Given the description of an element on the screen output the (x, y) to click on. 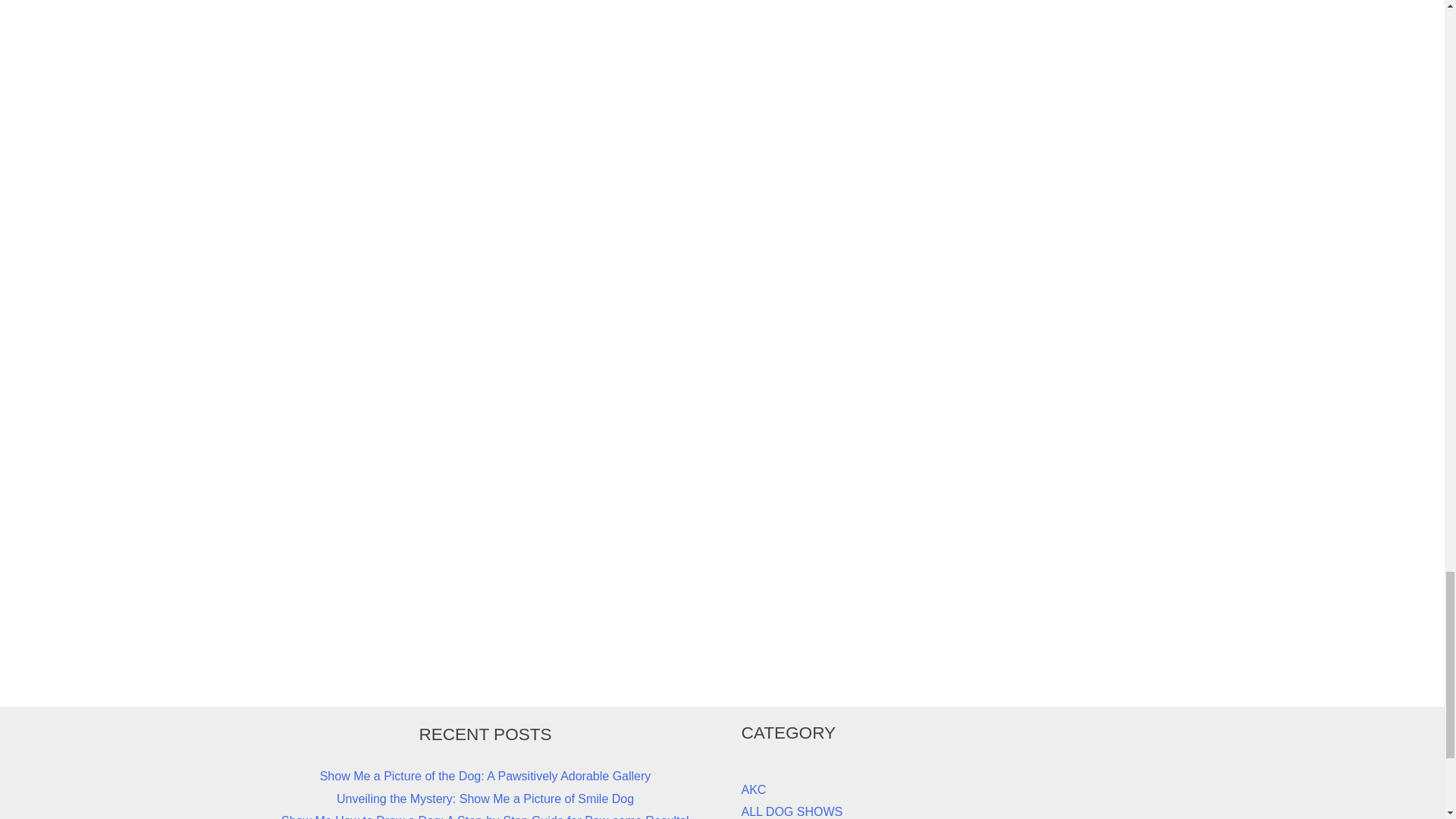
Unveiling the Mystery: Show Me a Picture of Smile Dog (484, 798)
ALL DOG SHOWS (792, 811)
AKC (754, 789)
Show Me a Picture of the Dog: A Pawsitively Adorable Gallery (485, 775)
